Given the description of an element on the screen output the (x, y) to click on. 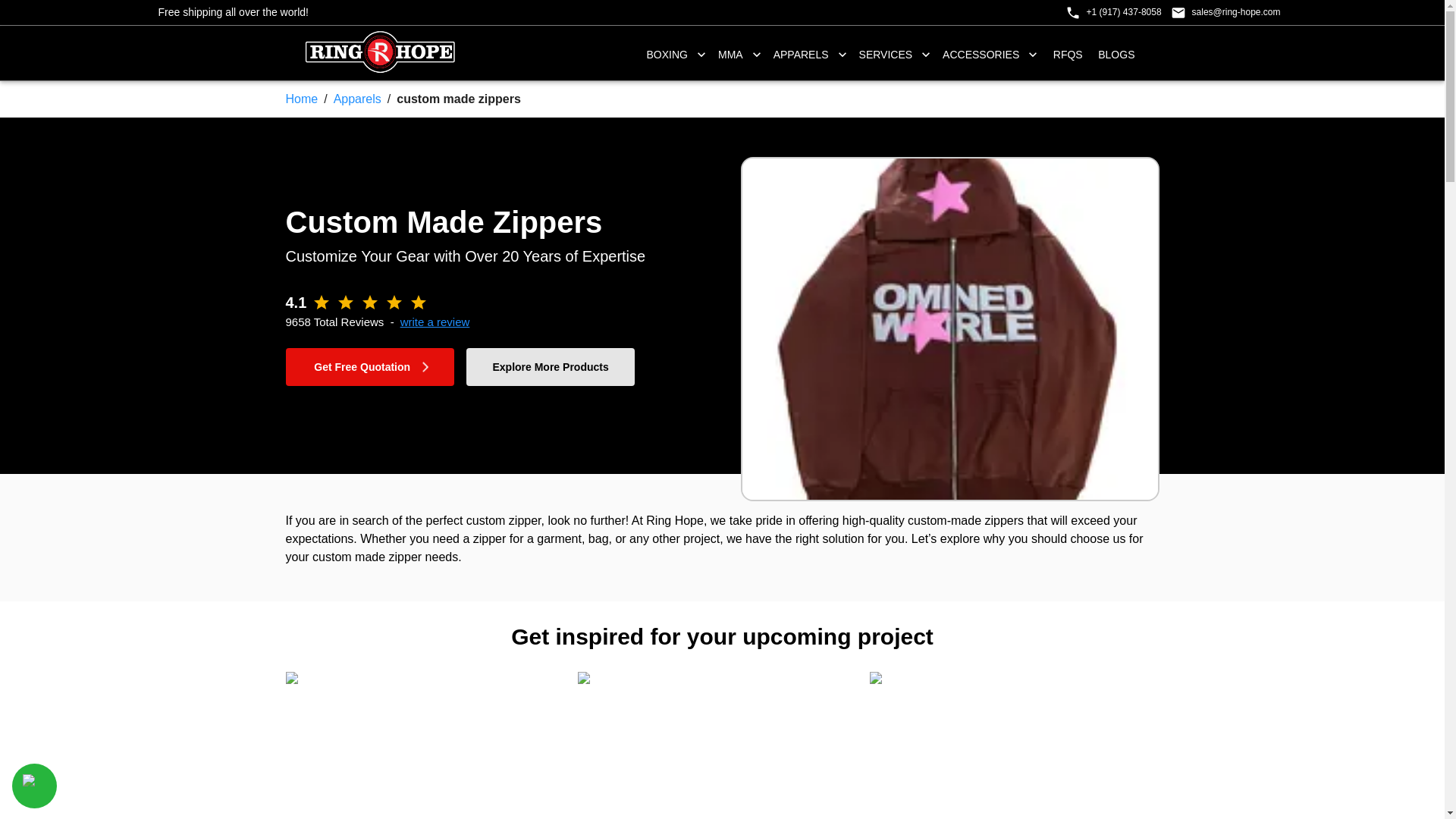
ACCESSORIES (989, 54)
Apparels (357, 98)
Get Free Quotation (368, 366)
APPARELS (810, 54)
BOXING (675, 54)
SERVICES (895, 54)
RFQS (1067, 52)
Home (301, 98)
Explore More Products (549, 366)
RFQS (1067, 54)
